Given the description of an element on the screen output the (x, y) to click on. 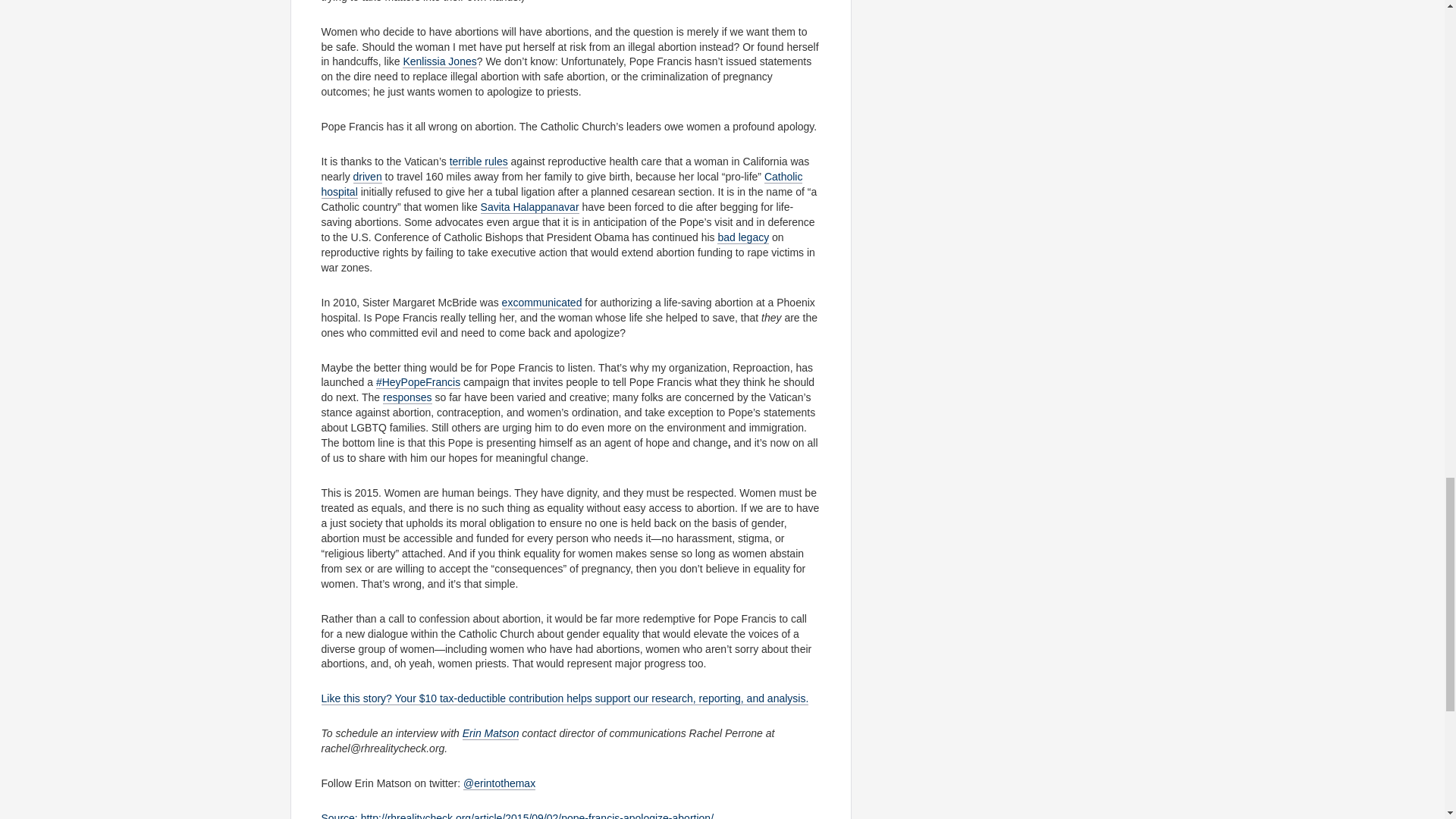
Catholic hospital (562, 184)
driven (367, 176)
Savita Halappanavar (529, 206)
terrible rules (478, 161)
Kenlissia Jones (439, 61)
Posts by Erin Matson (491, 733)
